Given the description of an element on the screen output the (x, y) to click on. 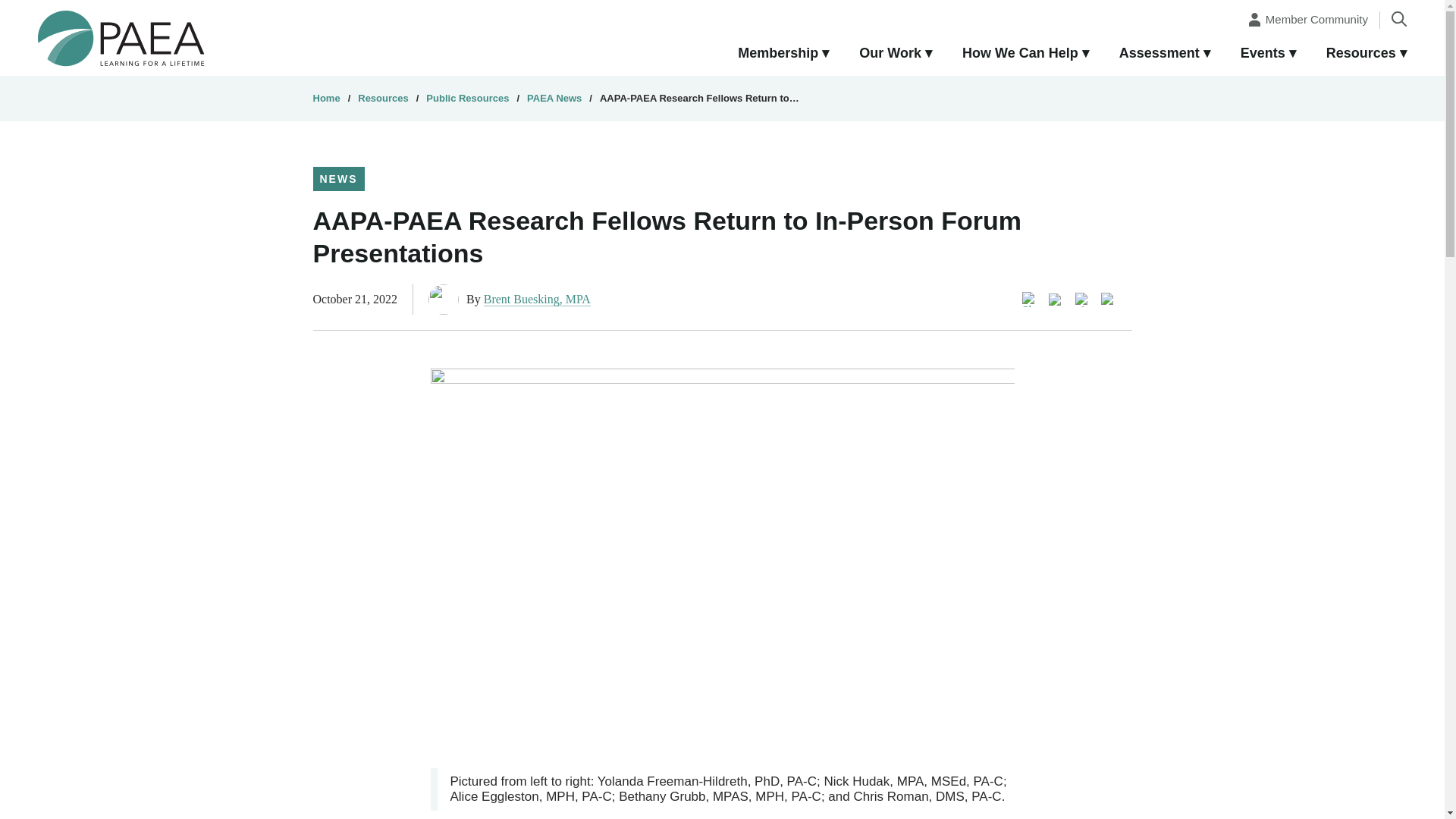
homepage (121, 37)
Our Work (895, 53)
Membership (783, 53)
